Given the description of an element on the screen output the (x, y) to click on. 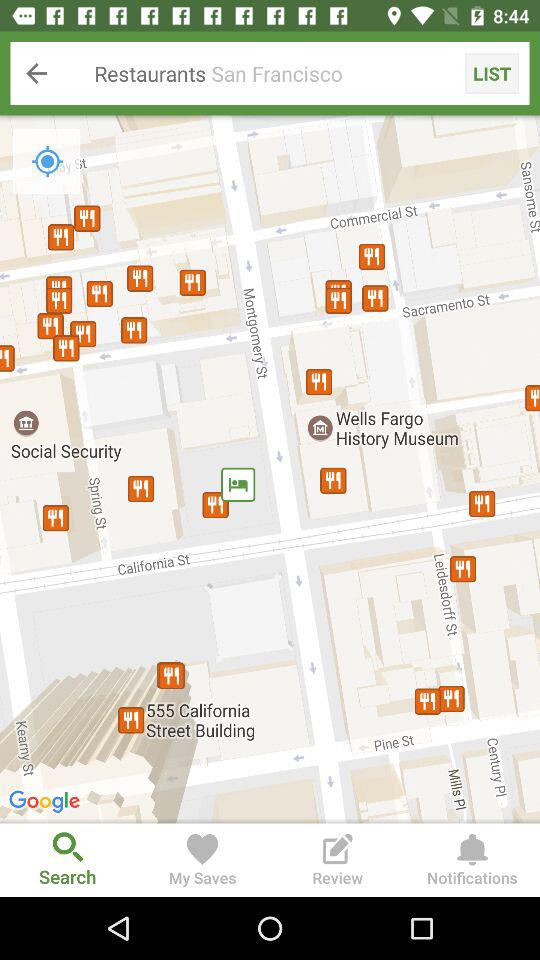
jump until restaurants san francisco item (269, 73)
